Given the description of an element on the screen output the (x, y) to click on. 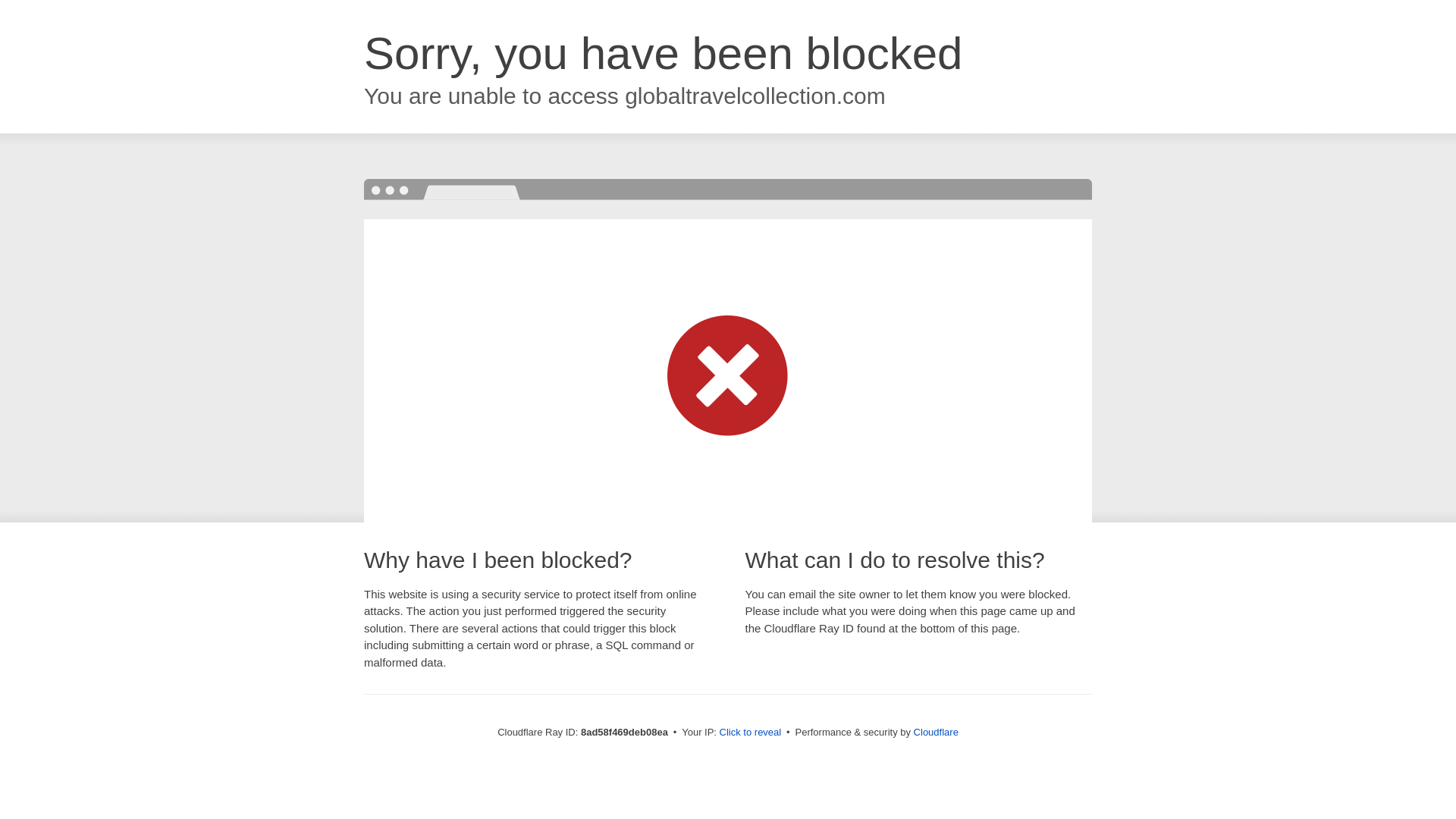
Click to reveal (750, 732)
Cloudflare (936, 731)
